Given the description of an element on the screen output the (x, y) to click on. 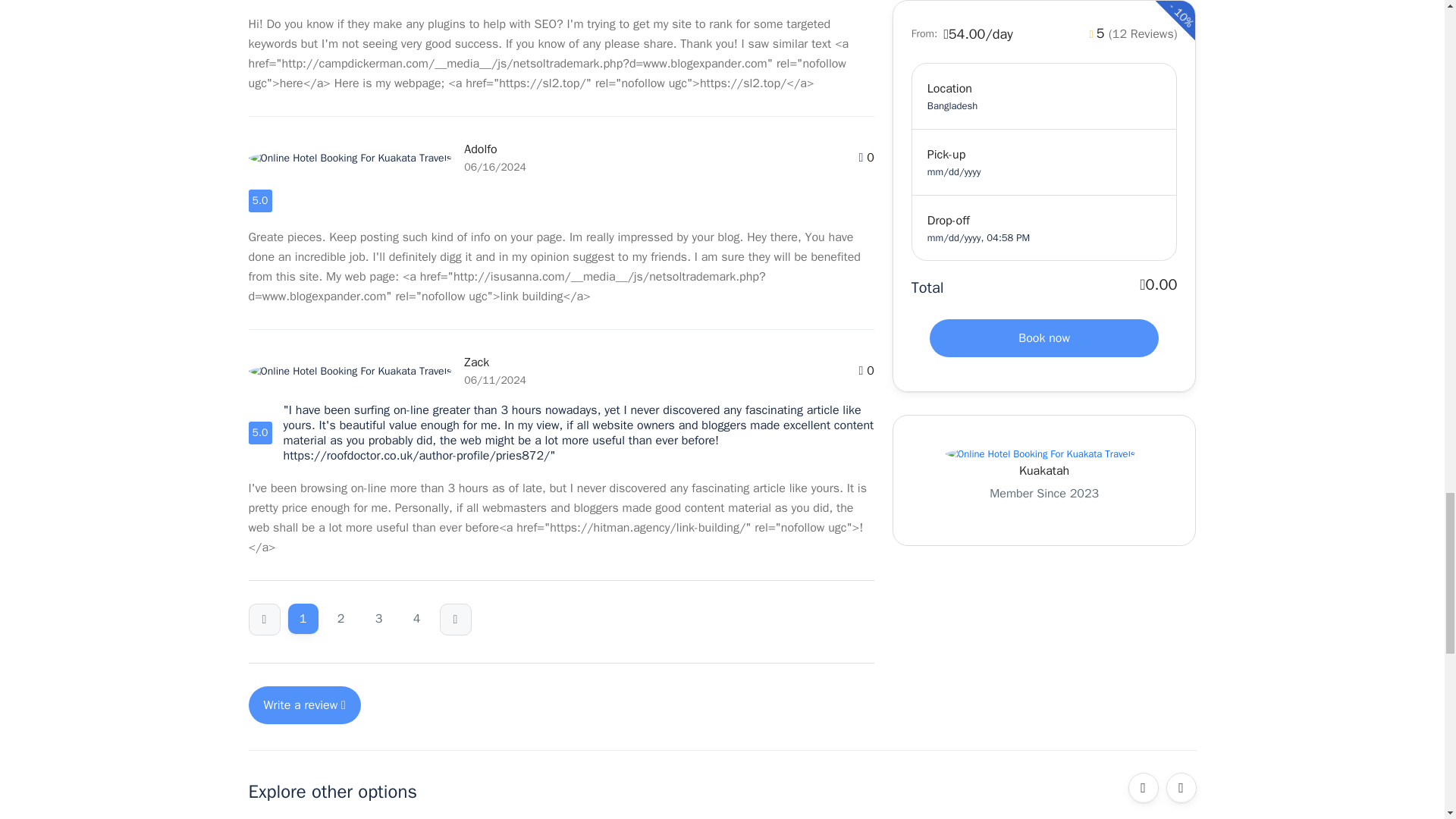
next (454, 619)
4 (416, 618)
Write a review (304, 704)
3 (379, 618)
2 (341, 618)
1 (303, 618)
previous (263, 619)
